Given the description of an element on the screen output the (x, y) to click on. 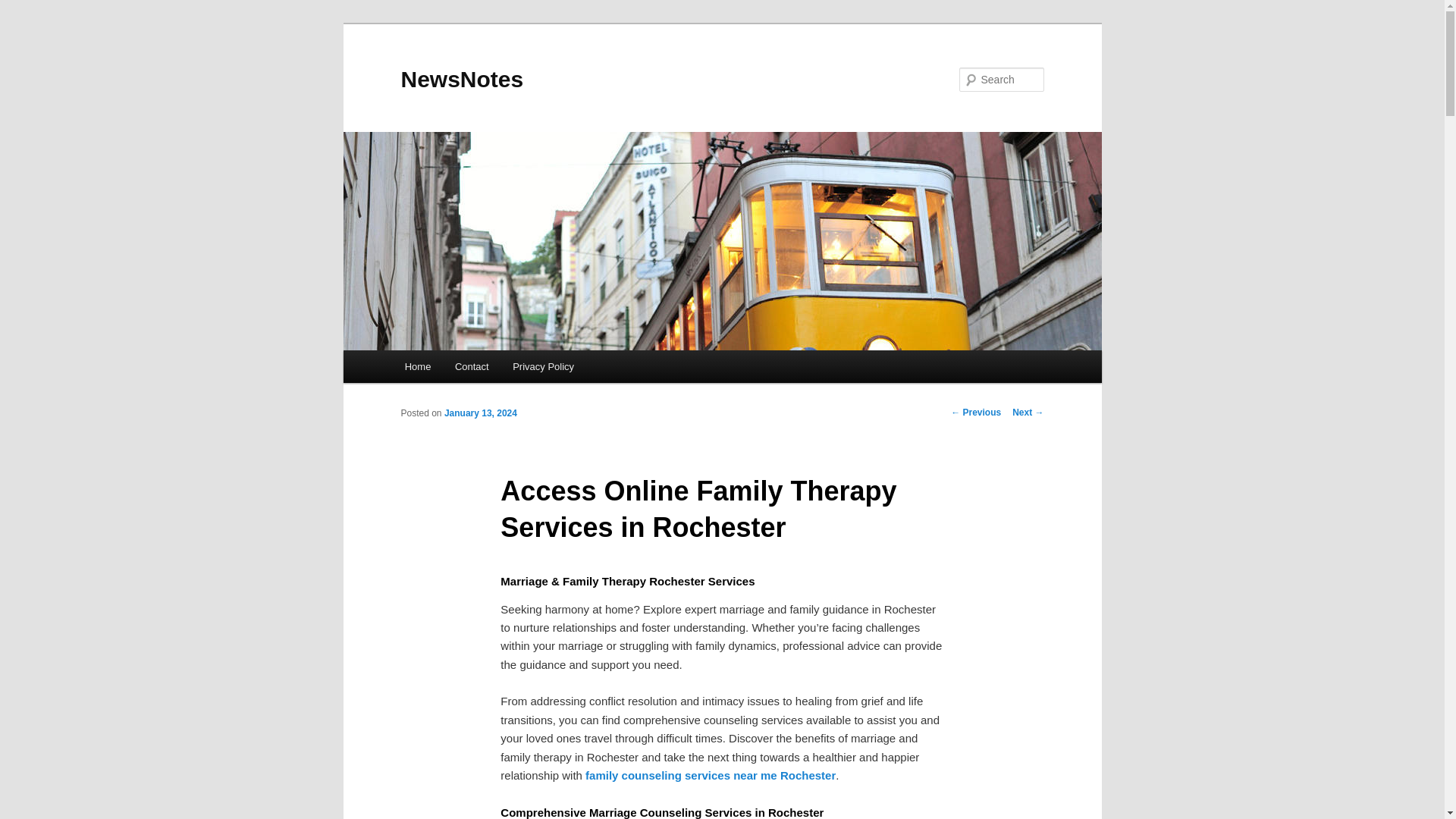
January 13, 2024 (480, 412)
family counseling services near me Rochester (710, 775)
Search (24, 8)
Privacy Policy (542, 366)
Home (417, 366)
Contact (471, 366)
NewsNotes (461, 78)
9:26 pm (480, 412)
